Given the description of an element on the screen output the (x, y) to click on. 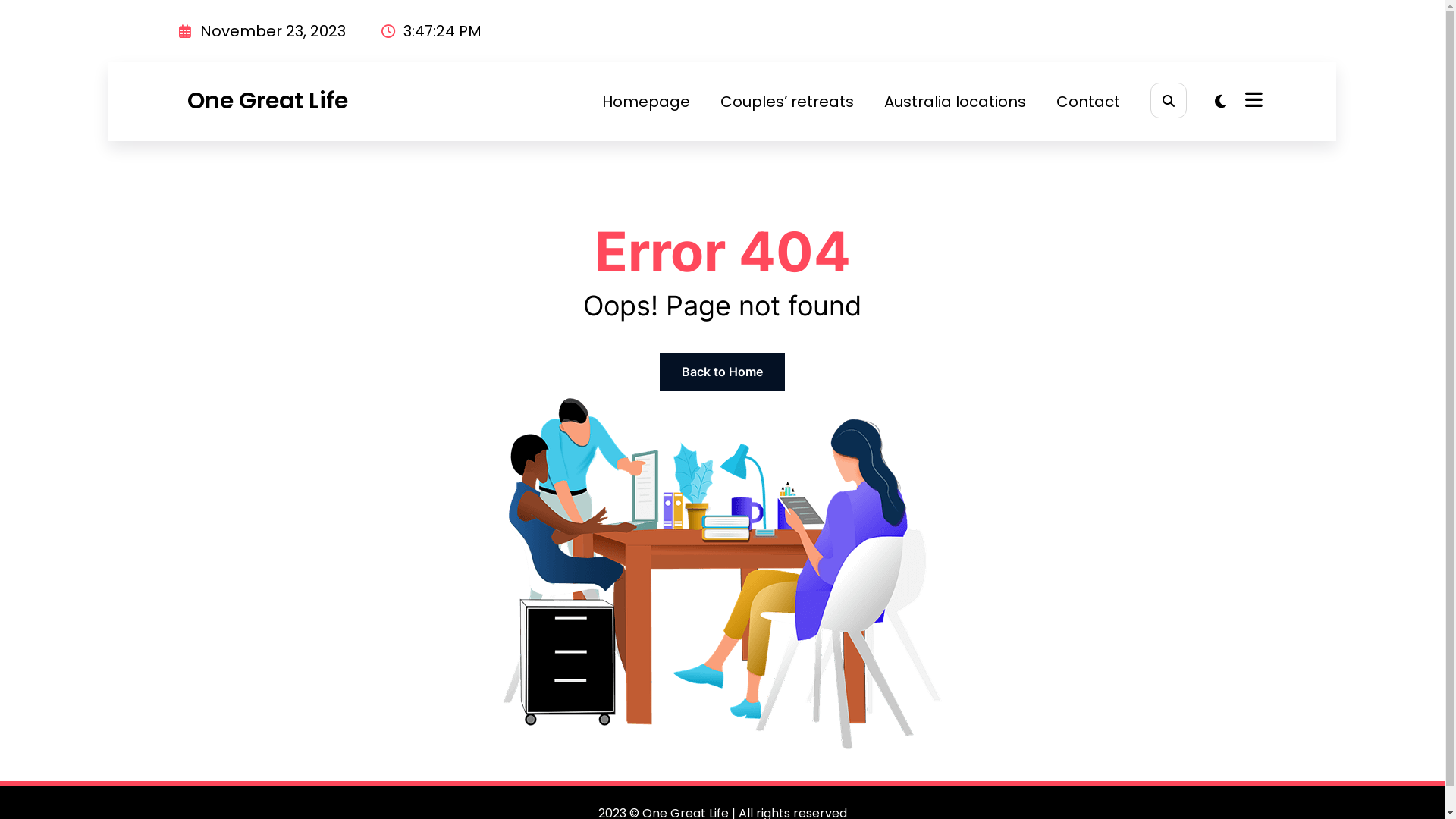
Contact Element type: text (1088, 101)
Australia locations Element type: text (955, 101)
Homepage Element type: text (645, 101)
One Great Life Element type: text (267, 100)
Back to Home Element type: text (721, 371)
